Given the description of an element on the screen output the (x, y) to click on. 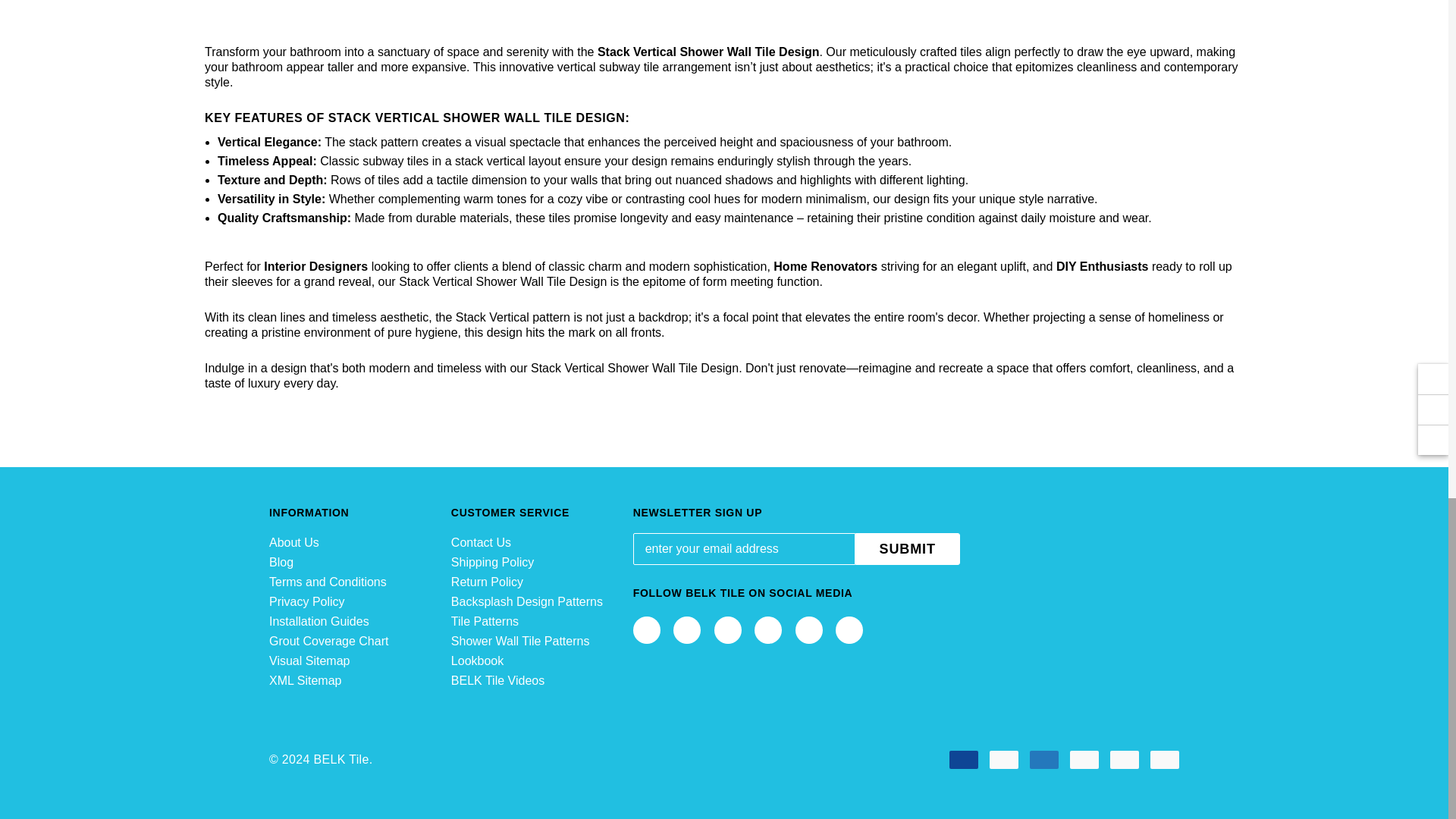
Paypal Paypal (1123, 760)
Amex Amex (1043, 760)
Visa Visa (963, 760)
Mastercard Mastercard (1003, 760)
Google Pay Google Pay (1164, 760)
Submit (907, 549)
Discover Discover (1084, 760)
